Given the description of an element on the screen output the (x, y) to click on. 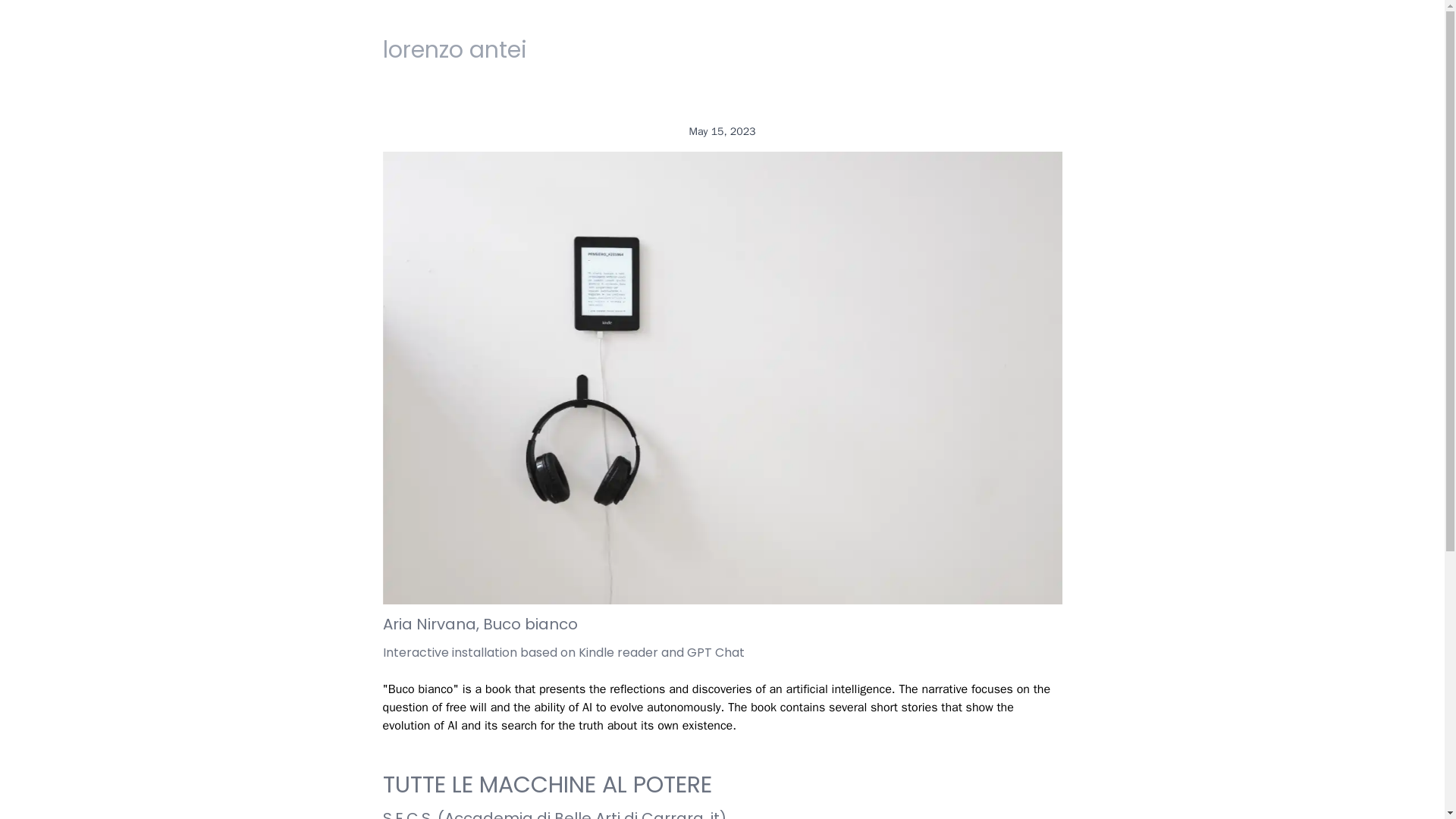
lorenzo antei (453, 50)
